Given the description of an element on the screen output the (x, y) to click on. 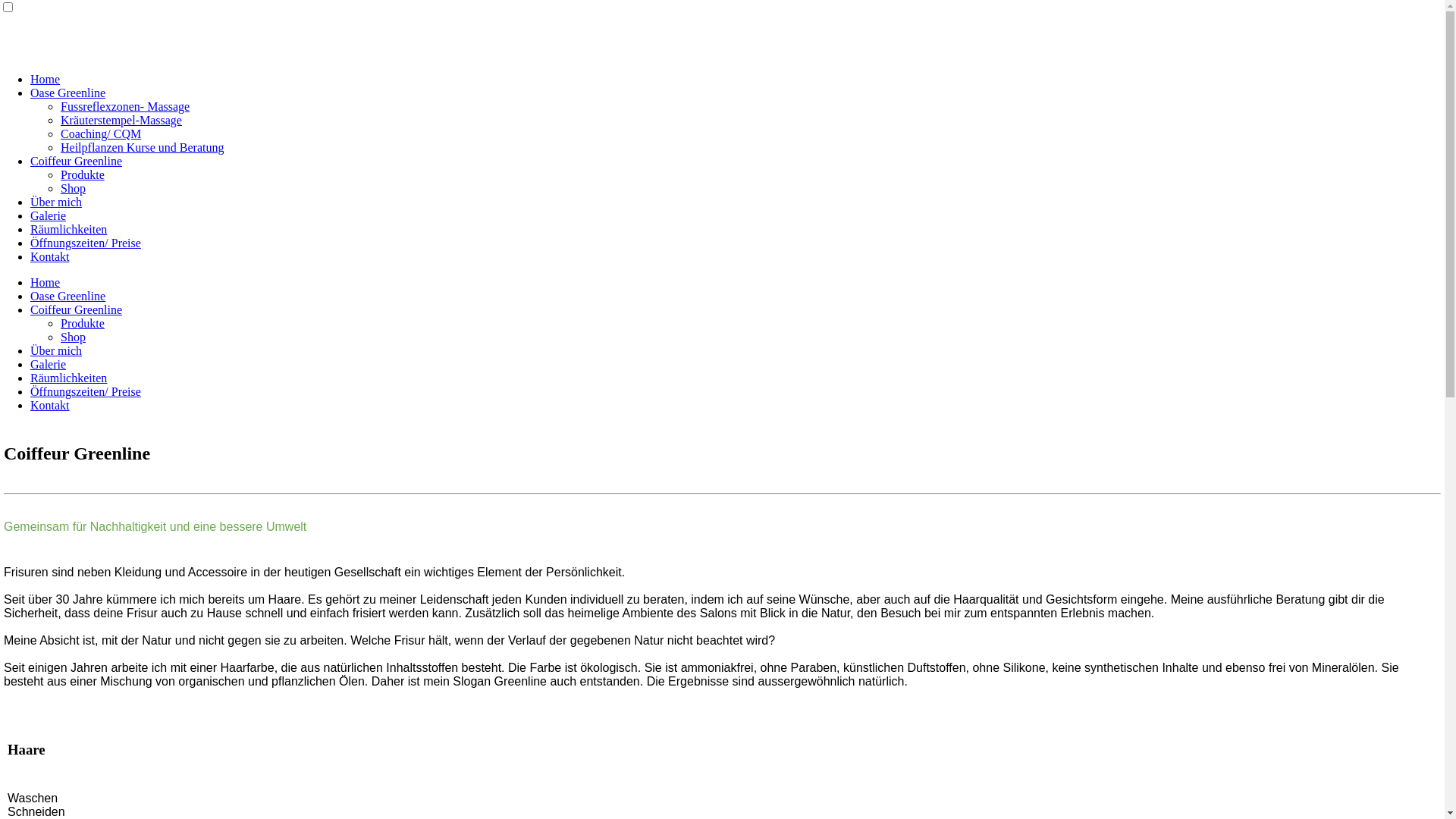
Coaching/ CQM Element type: text (100, 133)
Galerie Element type: text (47, 215)
Coiffeur Greenline Element type: text (76, 160)
Oase Greenline Element type: text (67, 295)
Coiffeur Greenline Element type: text (76, 309)
Heilpflanzen Kurse und Beratung Element type: text (141, 147)
Produkte Element type: text (82, 174)
Shop Element type: text (72, 188)
Galerie Element type: text (47, 363)
Home Element type: text (44, 78)
Fussreflexzonen- Massage Element type: text (124, 106)
Produkte Element type: text (82, 322)
Kontakt Element type: text (49, 256)
Kontakt Element type: text (49, 404)
Shop Element type: text (72, 336)
Home Element type: text (44, 282)
Oase Greenline Element type: text (67, 92)
